Given the description of an element on the screen output the (x, y) to click on. 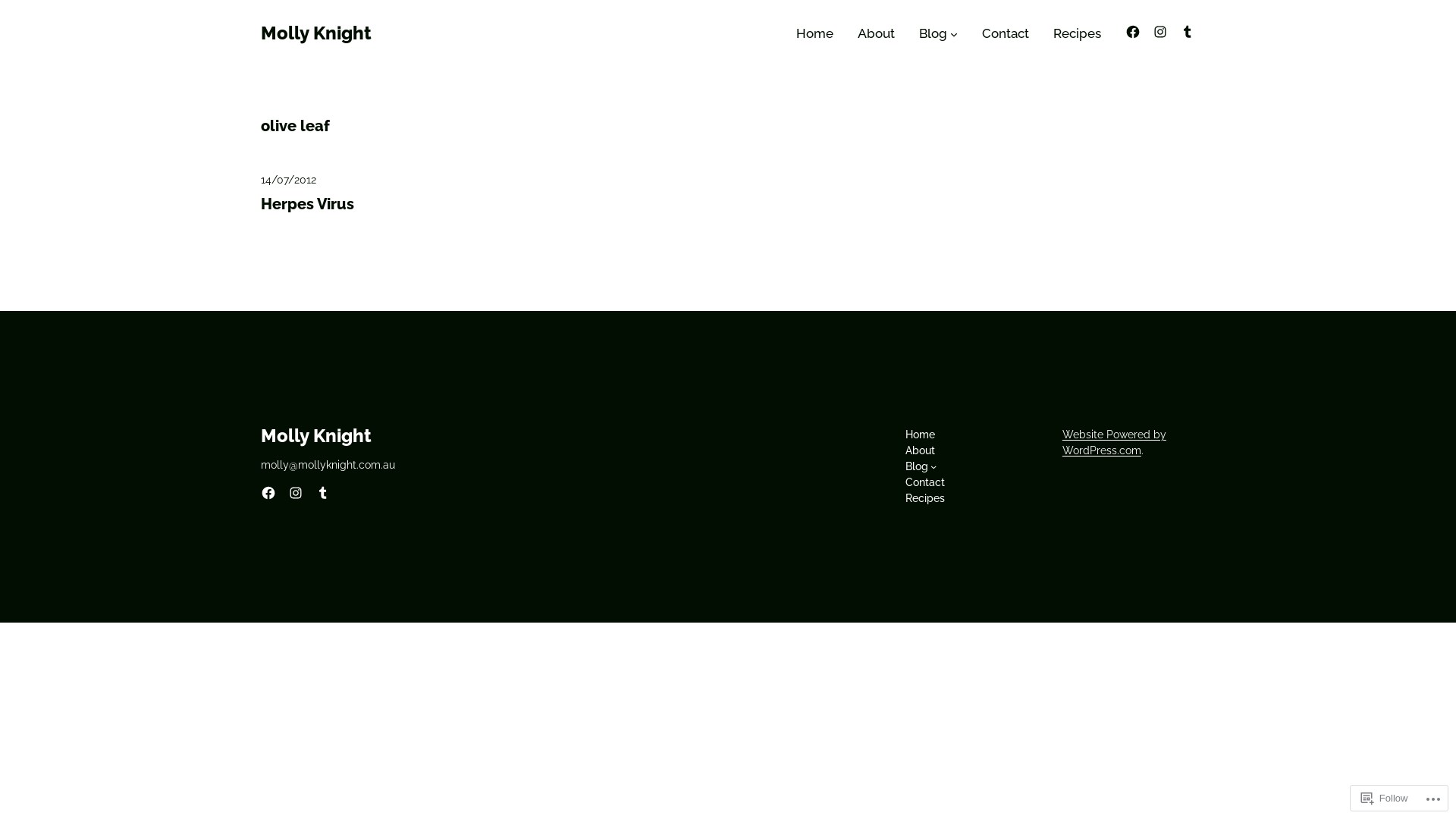
Blog Element type: text (916, 466)
About Element type: text (875, 33)
Molly Knight Element type: text (315, 32)
About Element type: text (920, 450)
Blog Element type: text (933, 33)
Molly Knight Element type: text (315, 435)
Contact Element type: text (1005, 33)
Home Element type: text (920, 434)
Home Element type: text (814, 33)
Recipes Element type: text (1077, 33)
Herpes Virus Element type: text (307, 203)
Recipes Element type: text (924, 498)
Website Powered by WordPress.com Element type: text (1114, 442)
Contact Element type: text (924, 482)
Follow Element type: text (1384, 797)
